Given the description of an element on the screen output the (x, y) to click on. 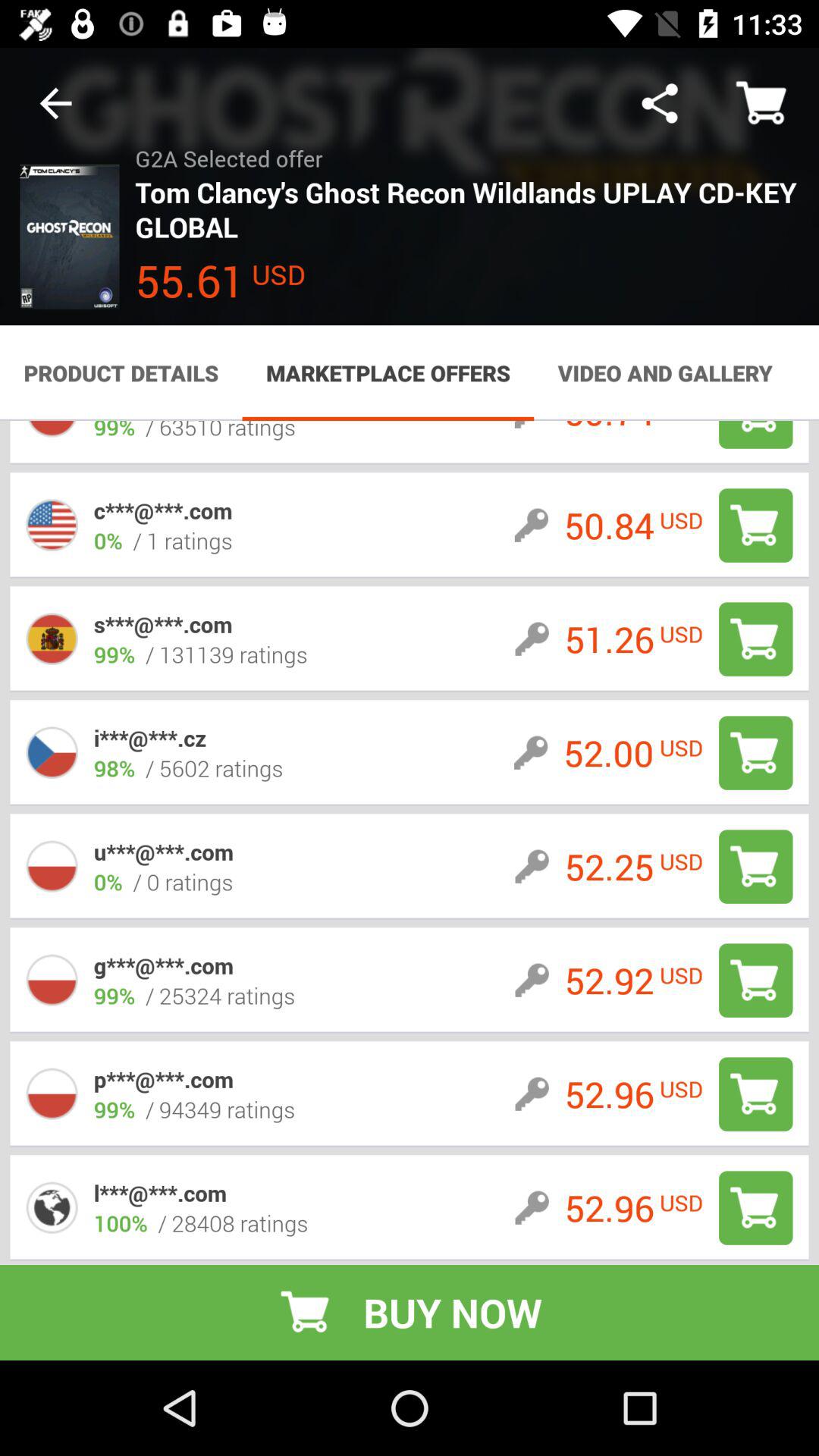
add to cart (755, 525)
